Given the description of an element on the screen output the (x, y) to click on. 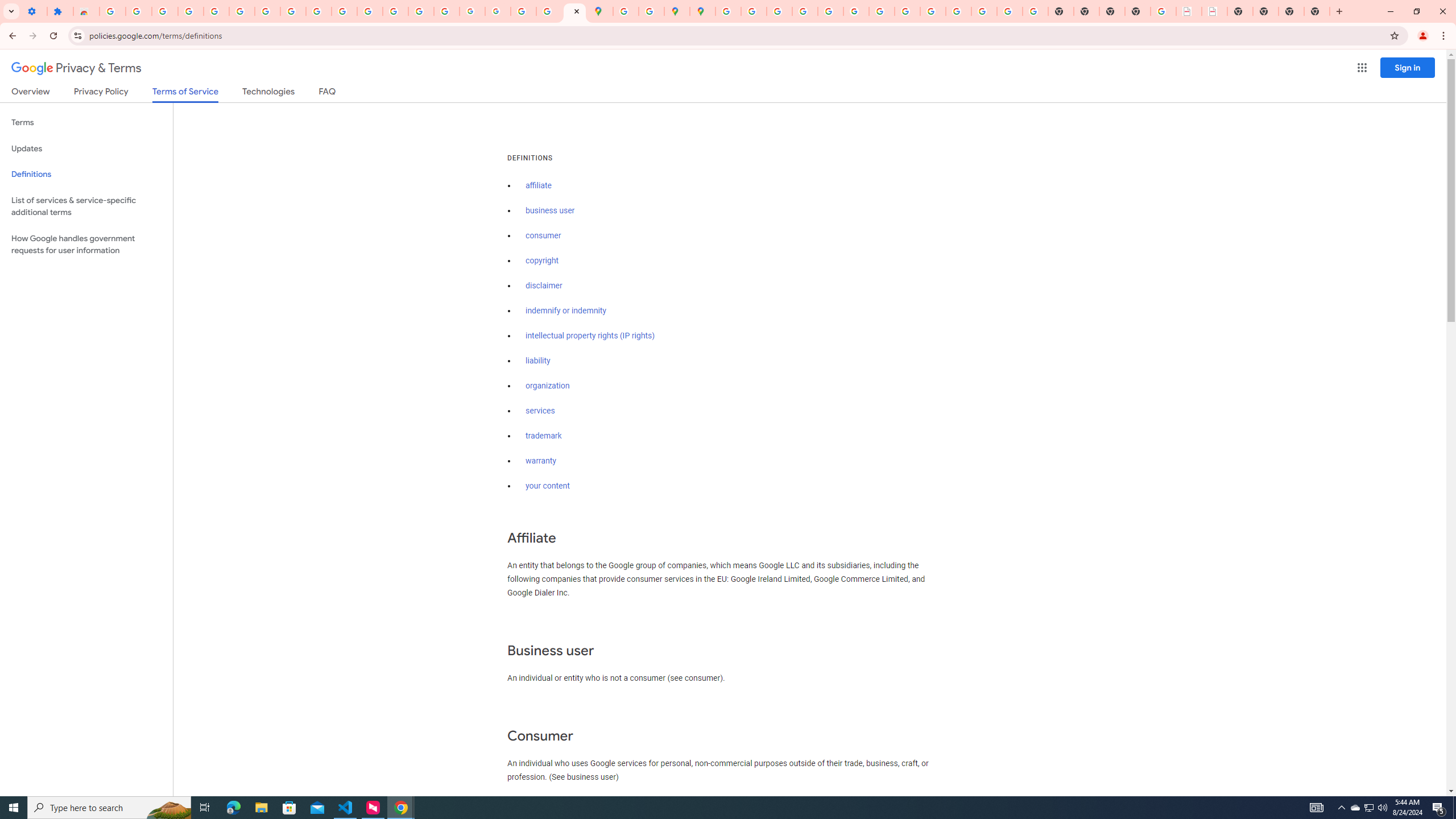
Google Images (1034, 11)
Safety in Our Products - Google Safety Center (651, 11)
List of services & service-specific additional terms (86, 206)
How Google handles government requests for user information (86, 244)
